Given the description of an element on the screen output the (x, y) to click on. 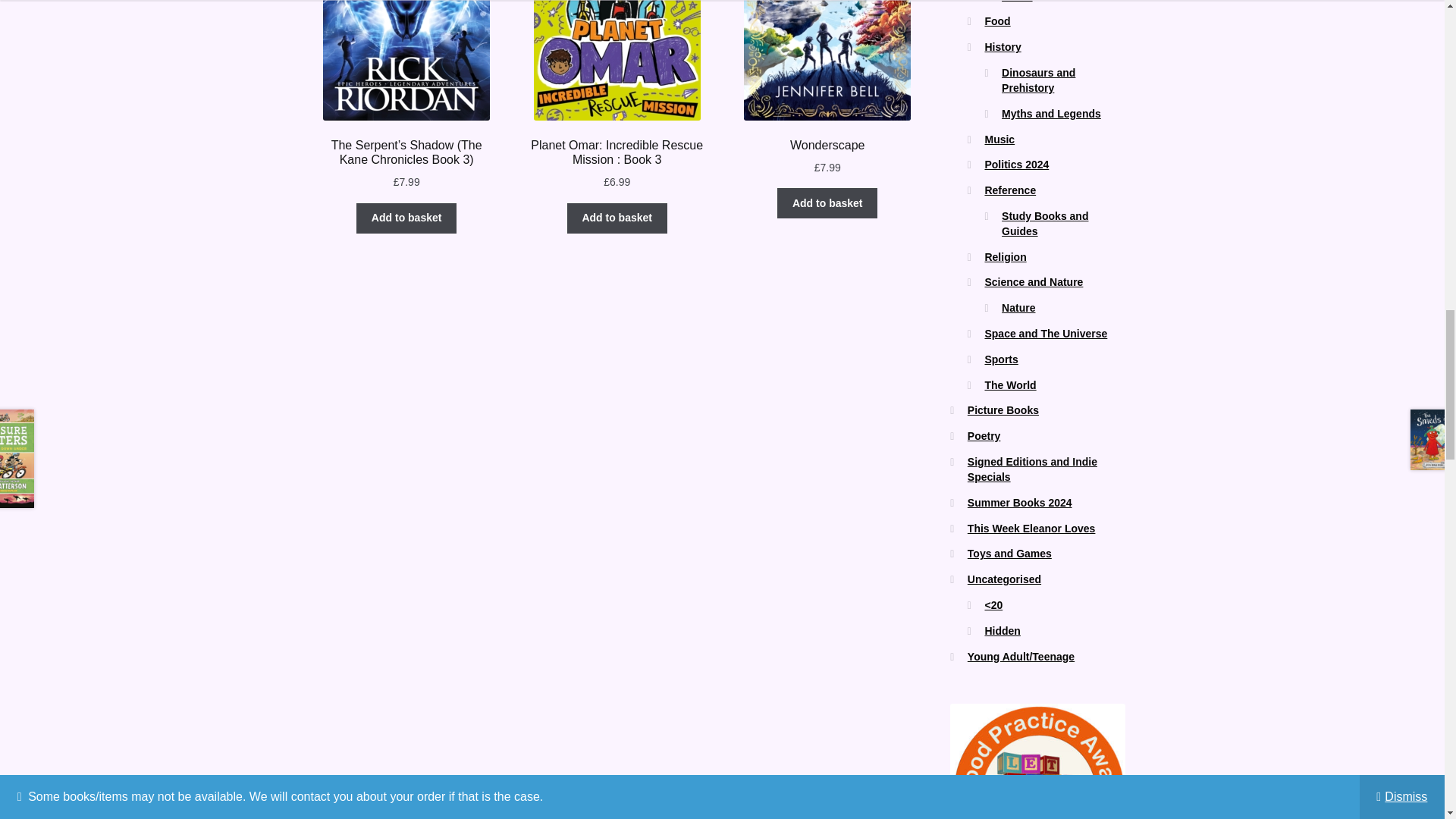
Add to basket (616, 218)
Add to basket (406, 218)
